Given the description of an element on the screen output the (x, y) to click on. 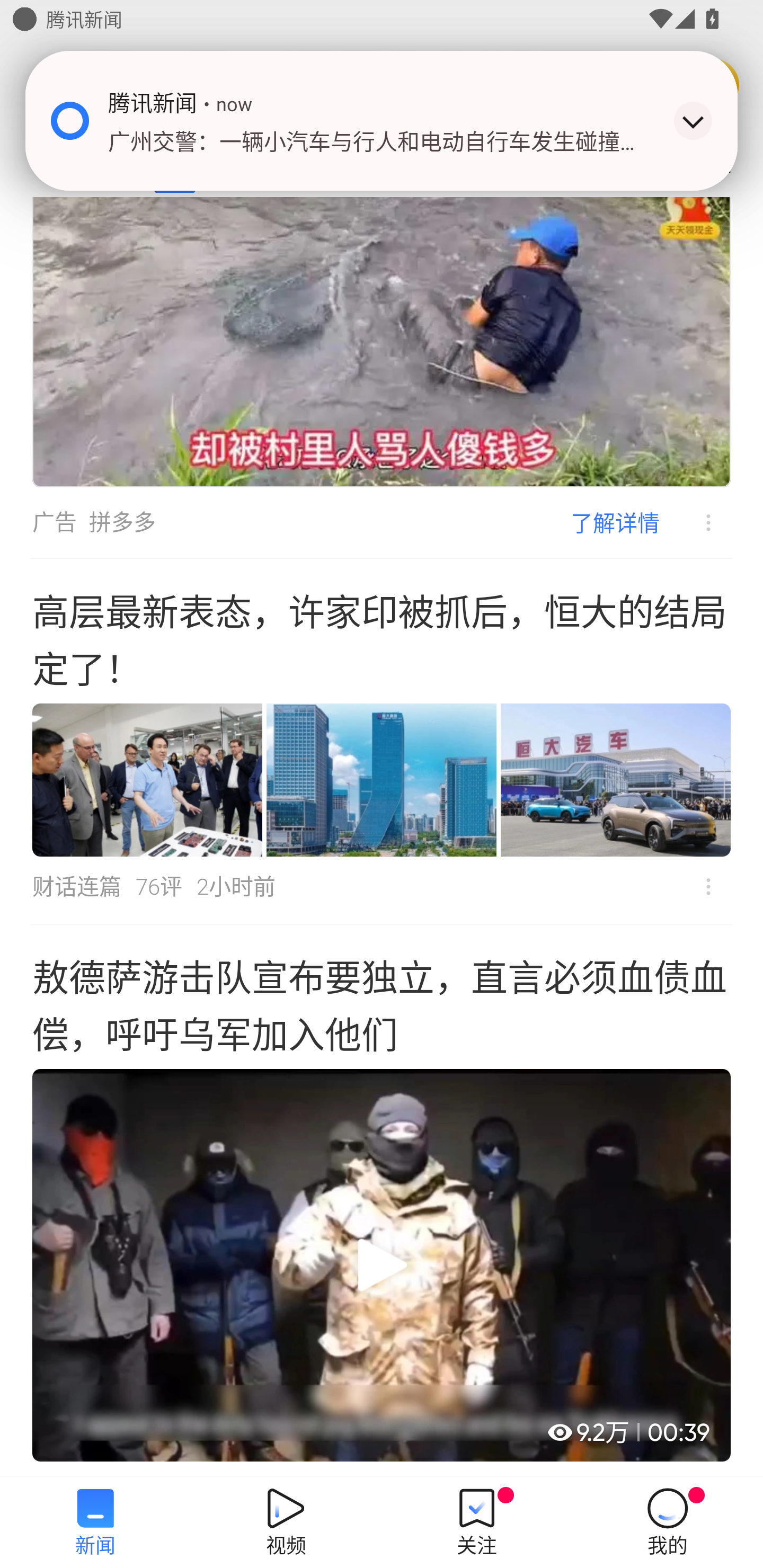
 不感兴趣 (694, 522)
了解详情 (614, 522)
广告 (54, 522)
拼多多 (122, 522)
 不感兴趣 (707, 886)
敖德萨游击队宣布要独立，直言必须血债血偿，呼吁乌军加入他们  9.2万 00:39  不感兴趣 (381, 1201)
